Given the description of an element on the screen output the (x, y) to click on. 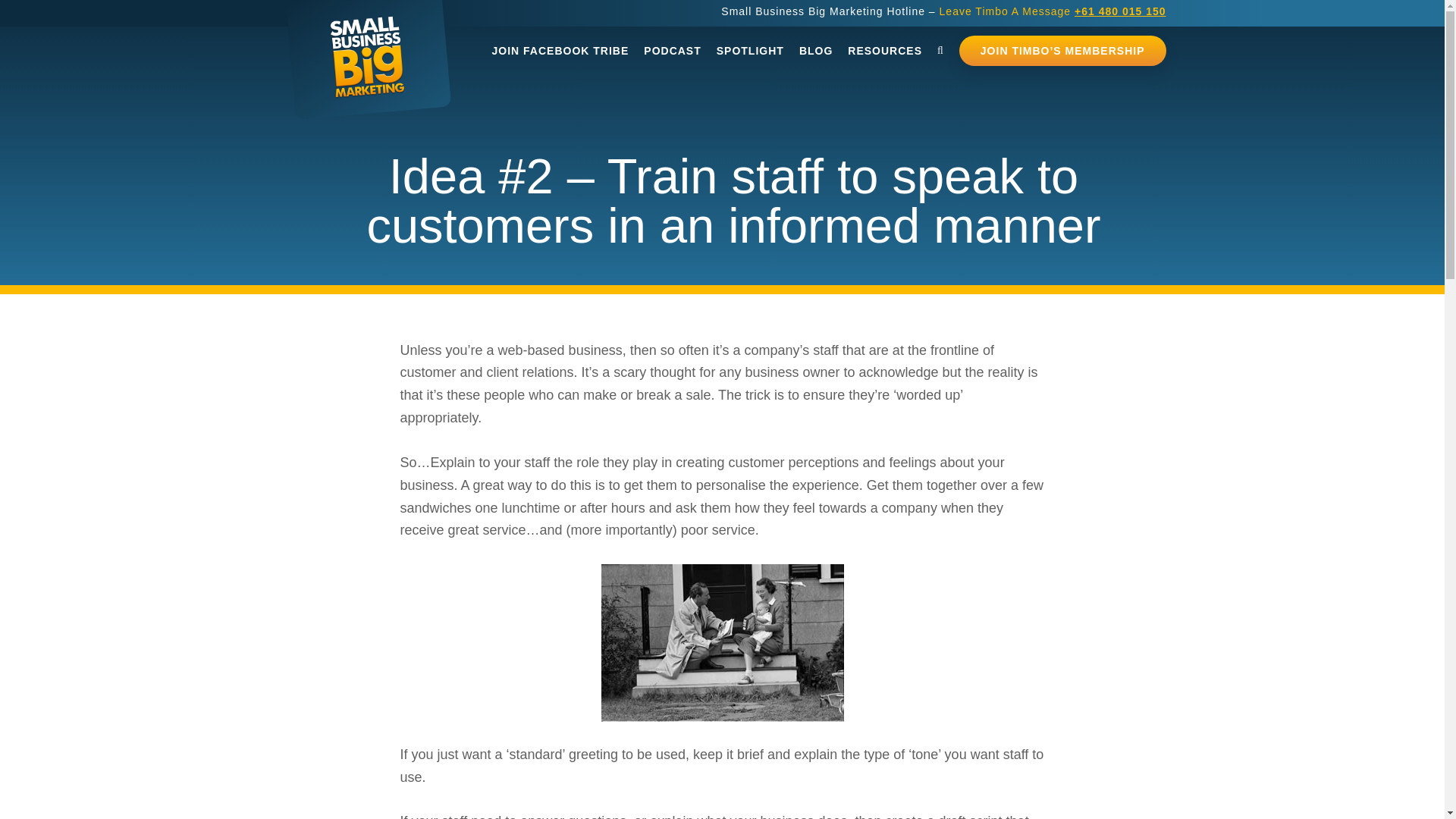
BLOG (816, 51)
PODCAST (671, 51)
JOIN FACEBOOK TRIBE (559, 51)
train-staff (721, 642)
SPOTLIGHT (750, 51)
RESOURCES (885, 51)
